Given the description of an element on the screen output the (x, y) to click on. 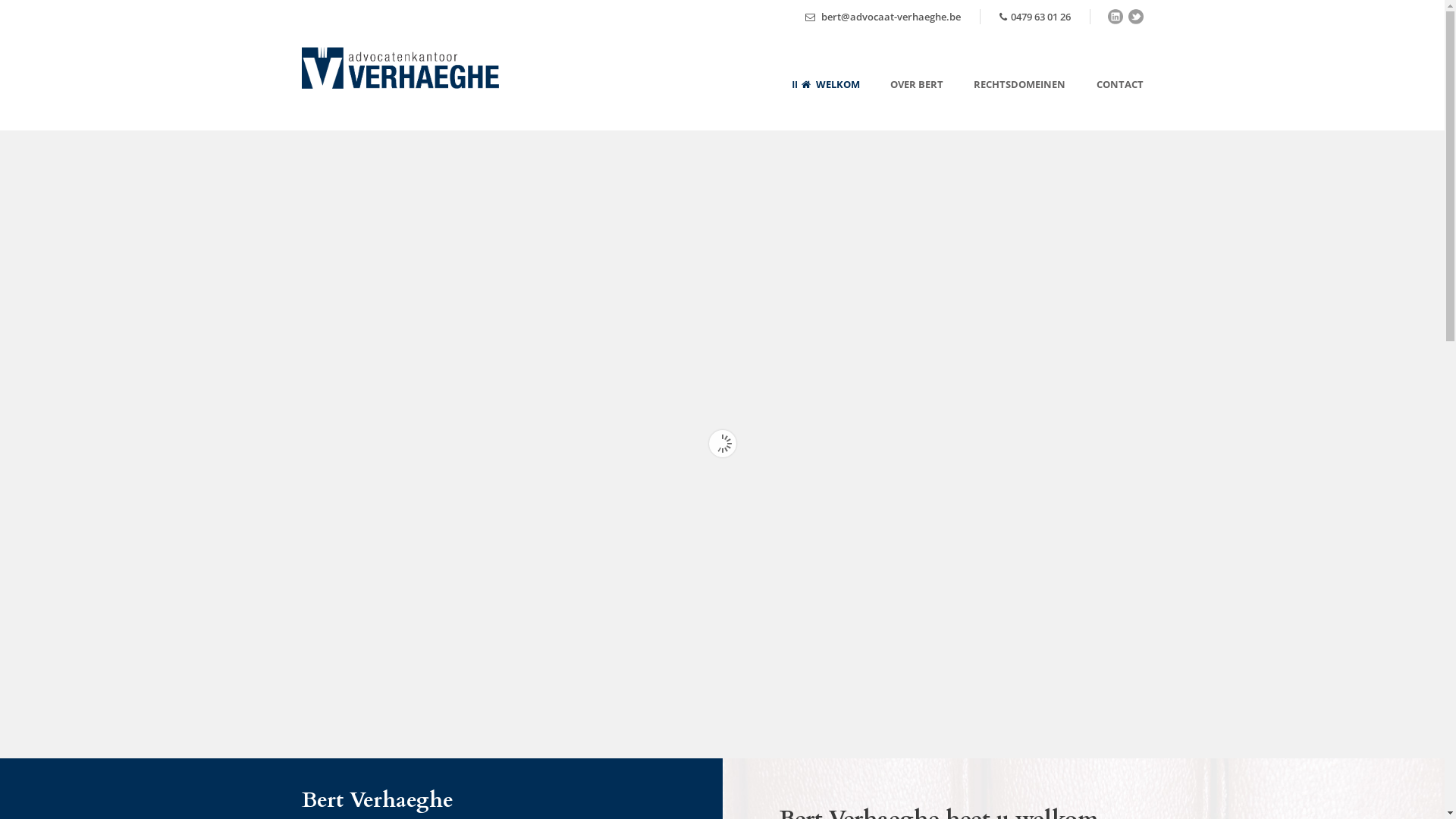
CONTACT Element type: text (1103, 102)
OVER BERT Element type: text (901, 102)
RECHTSDOMEINEN Element type: text (1004, 102)
WELKOM Element type: text (825, 102)
0479 63 01 26 Element type: text (1034, 16)
bert@advocaat-verhaeghe.be Element type: text (882, 16)
